Given the description of an element on the screen output the (x, y) to click on. 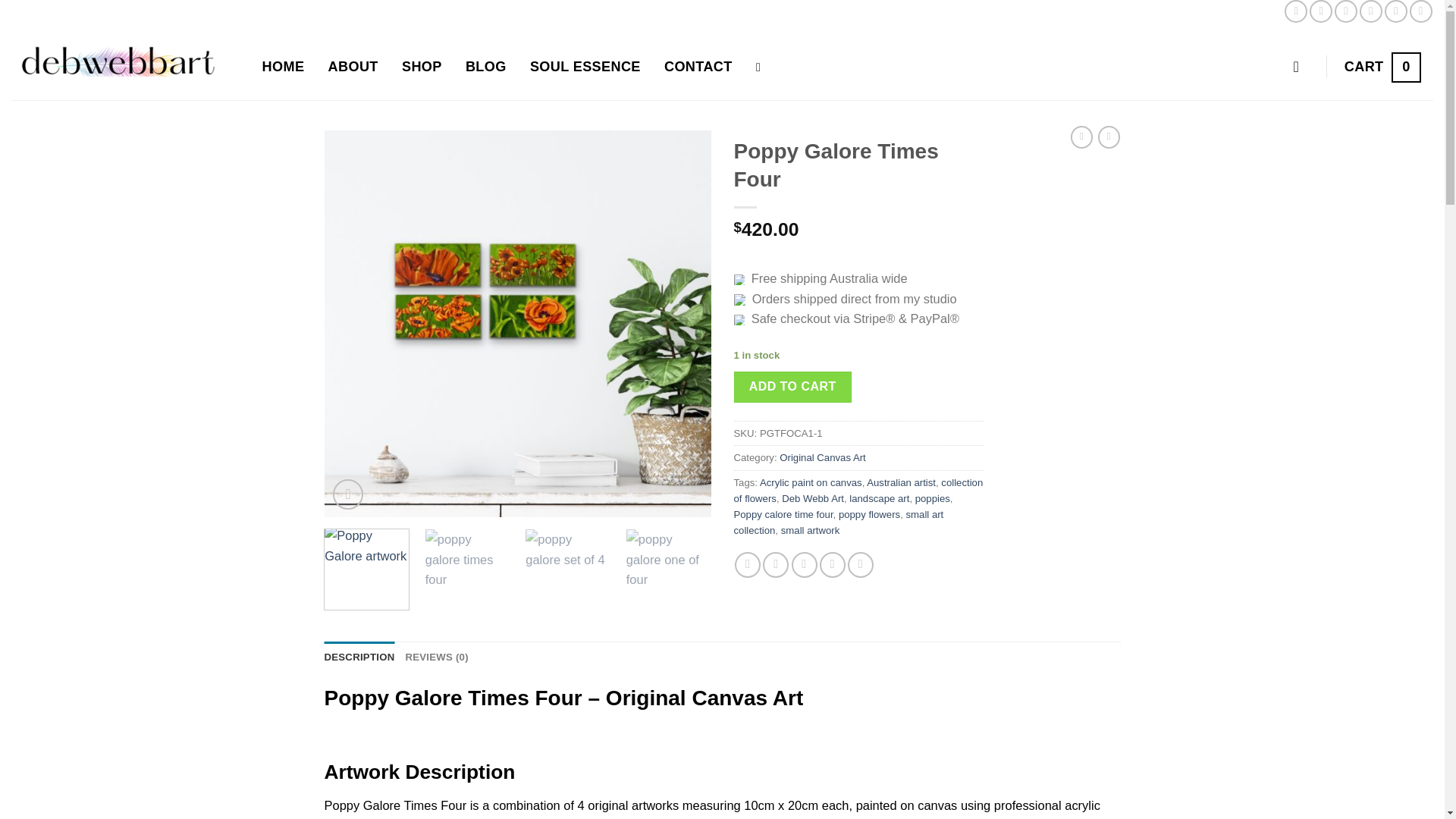
Follow on LinkedIn (1395, 11)
CONTACT (1382, 66)
Follow on Pinterest (698, 66)
HOME (1370, 11)
Follow on Instagram (282, 66)
Follow on Facebook (1320, 11)
Login (1295, 11)
Follow on YouTube (1300, 66)
BLOG (1420, 11)
